Given the description of an element on the screen output the (x, y) to click on. 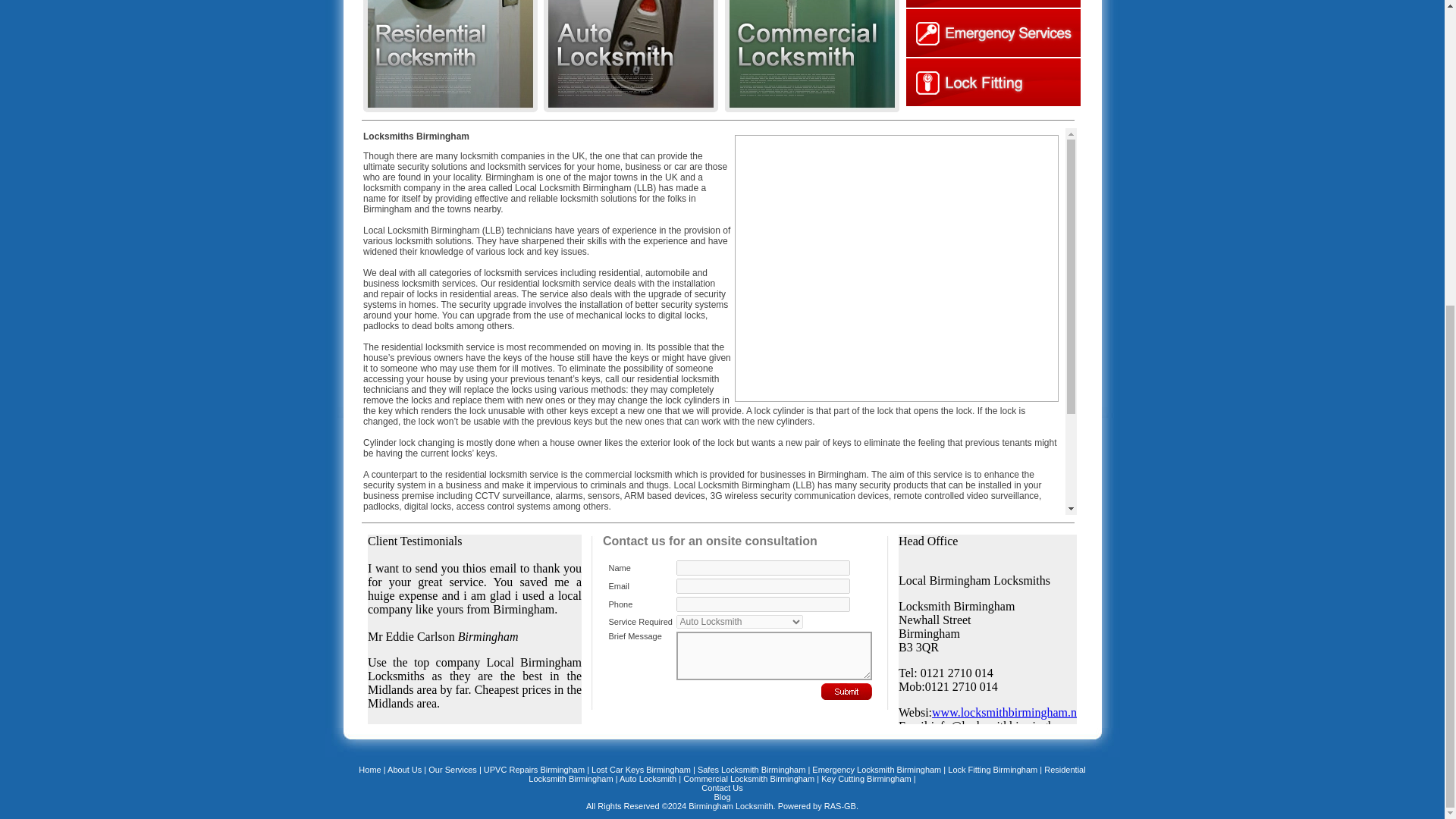
Contact Us (721, 787)
Blog (721, 796)
Lock Fitting Birmingham (993, 768)
Lost Car Keys Birmingham (642, 768)
Home (369, 768)
Key Cutting Birmingham (866, 777)
Auto Locksmith (648, 777)
Emergency Locksmith Birmingham (876, 768)
Our Services (452, 768)
Residential Locksmith Birmingham (806, 773)
